Given the description of an element on the screen output the (x, y) to click on. 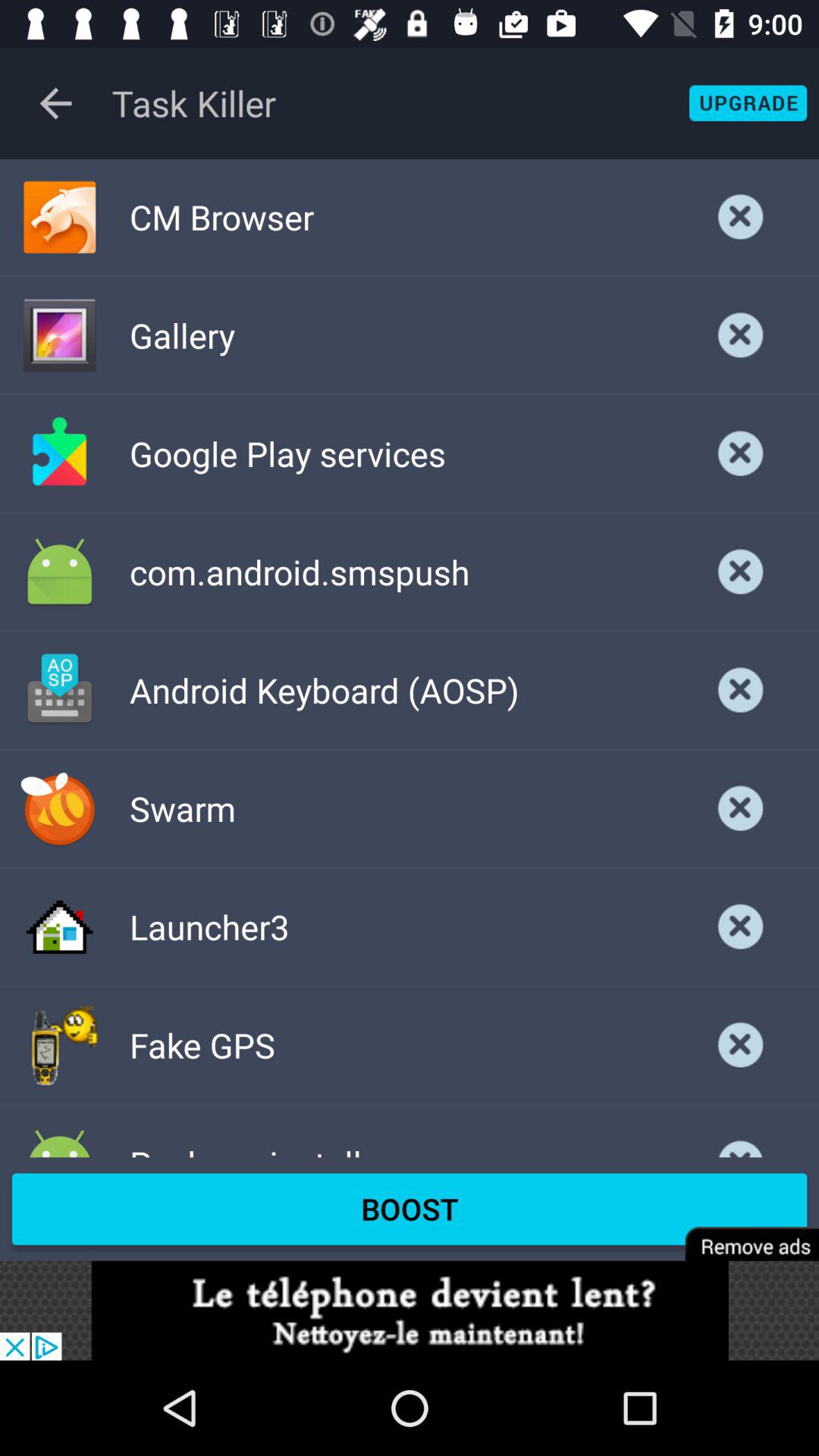
close the option (740, 571)
